Given the description of an element on the screen output the (x, y) to click on. 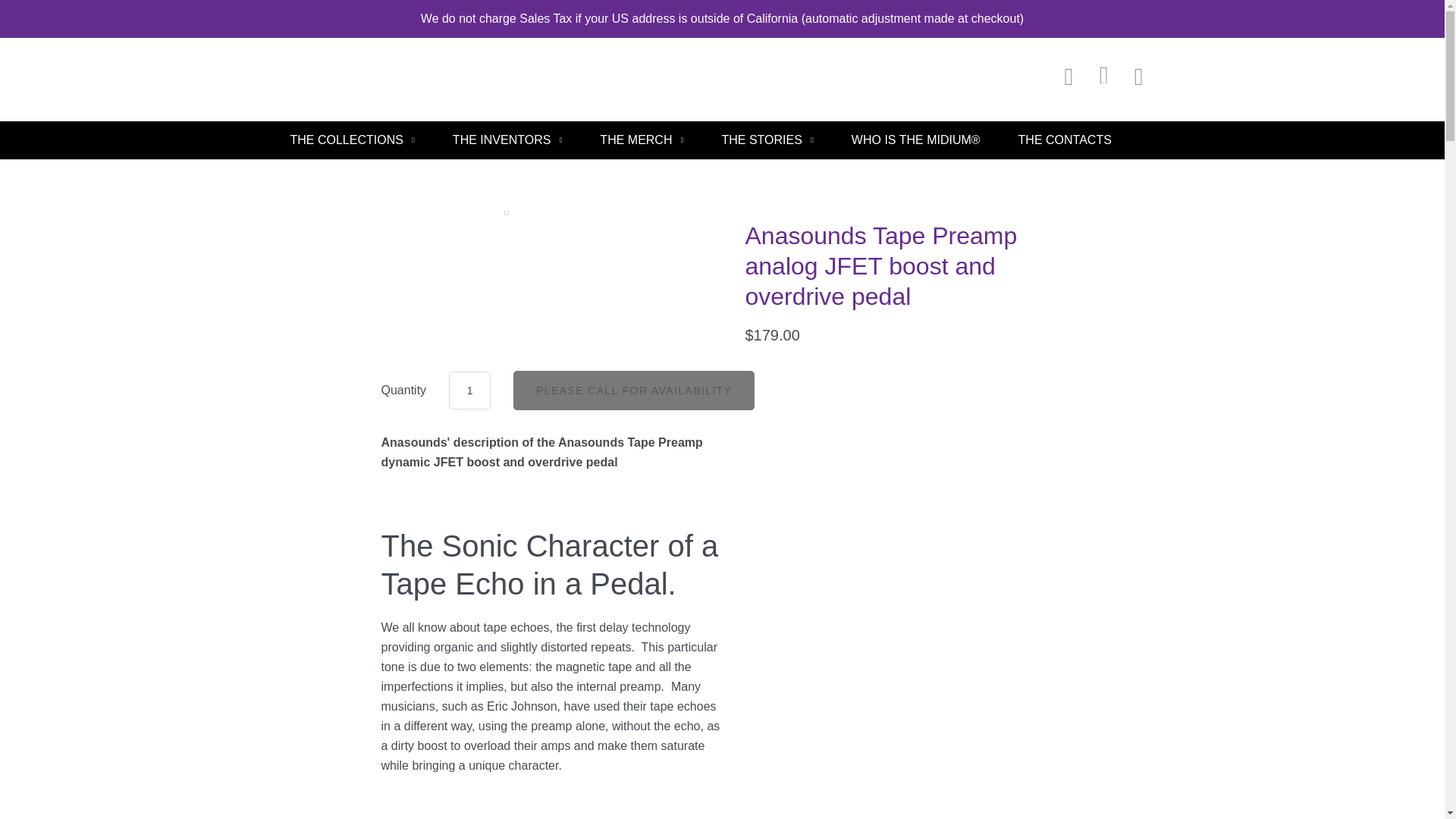
THE COLLECTIONS (351, 139)
1 (469, 390)
Please call for availability (633, 389)
THE INVENTORS (507, 139)
YouTube video player (592, 803)
